Given the description of an element on the screen output the (x, y) to click on. 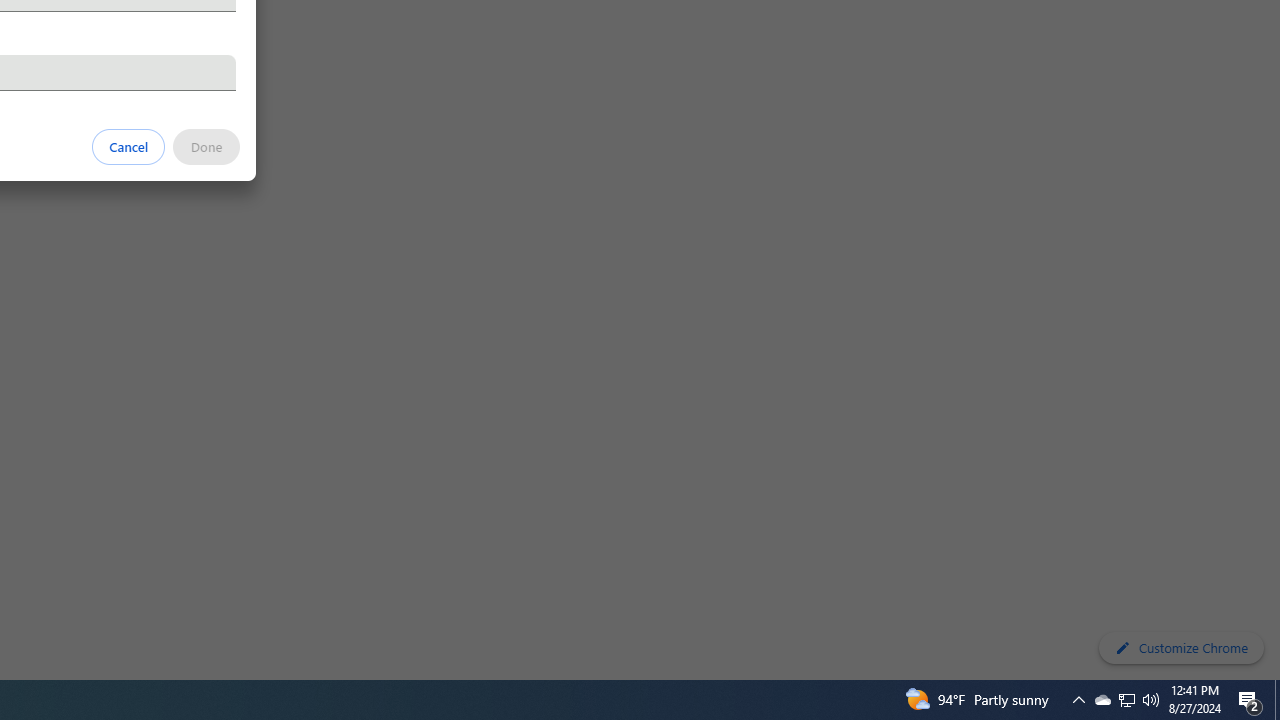
Cancel (129, 146)
Done (206, 146)
